Given the description of an element on the screen output the (x, y) to click on. 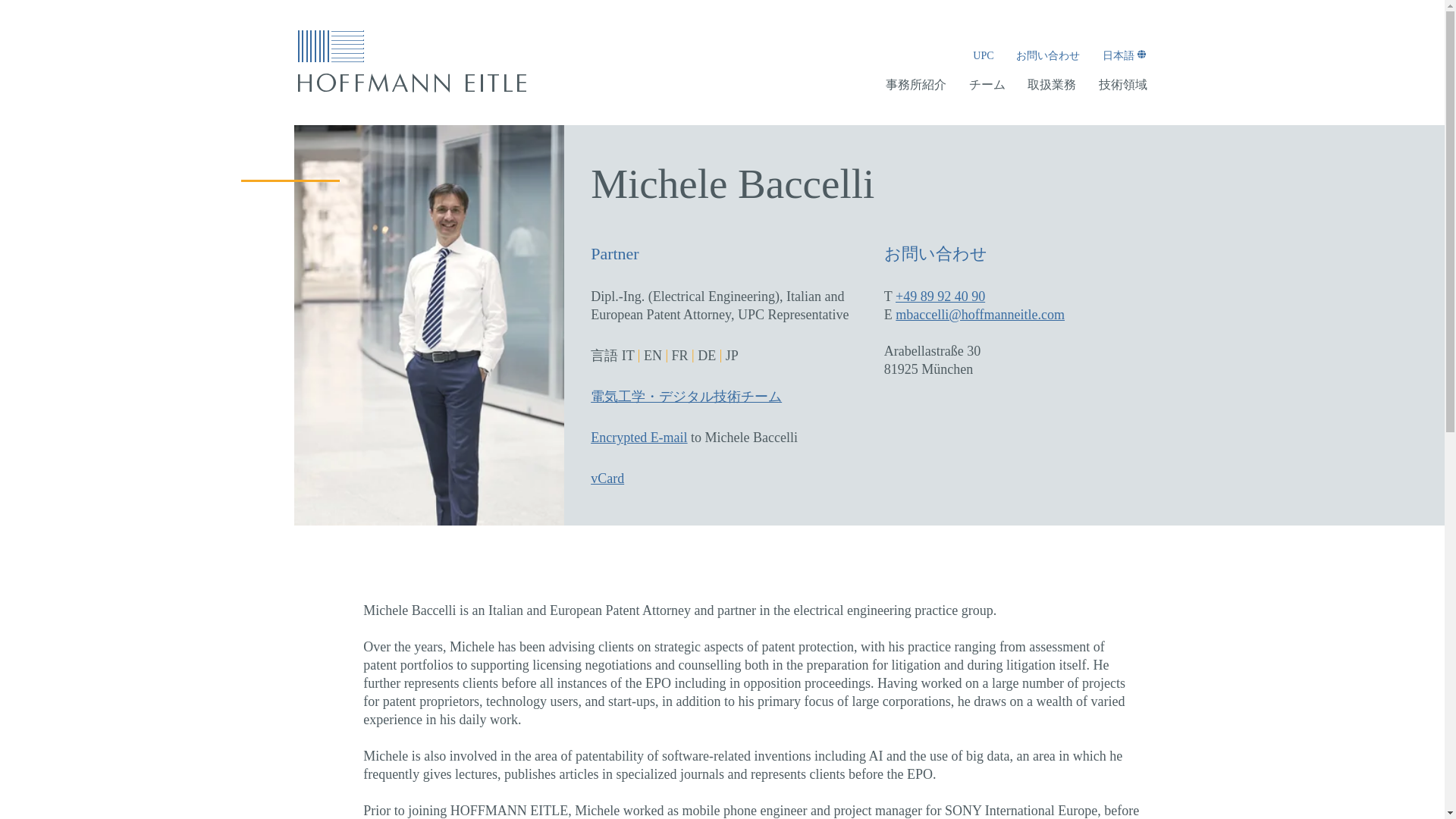
UPC (982, 55)
